Given the description of an element on the screen output the (x, y) to click on. 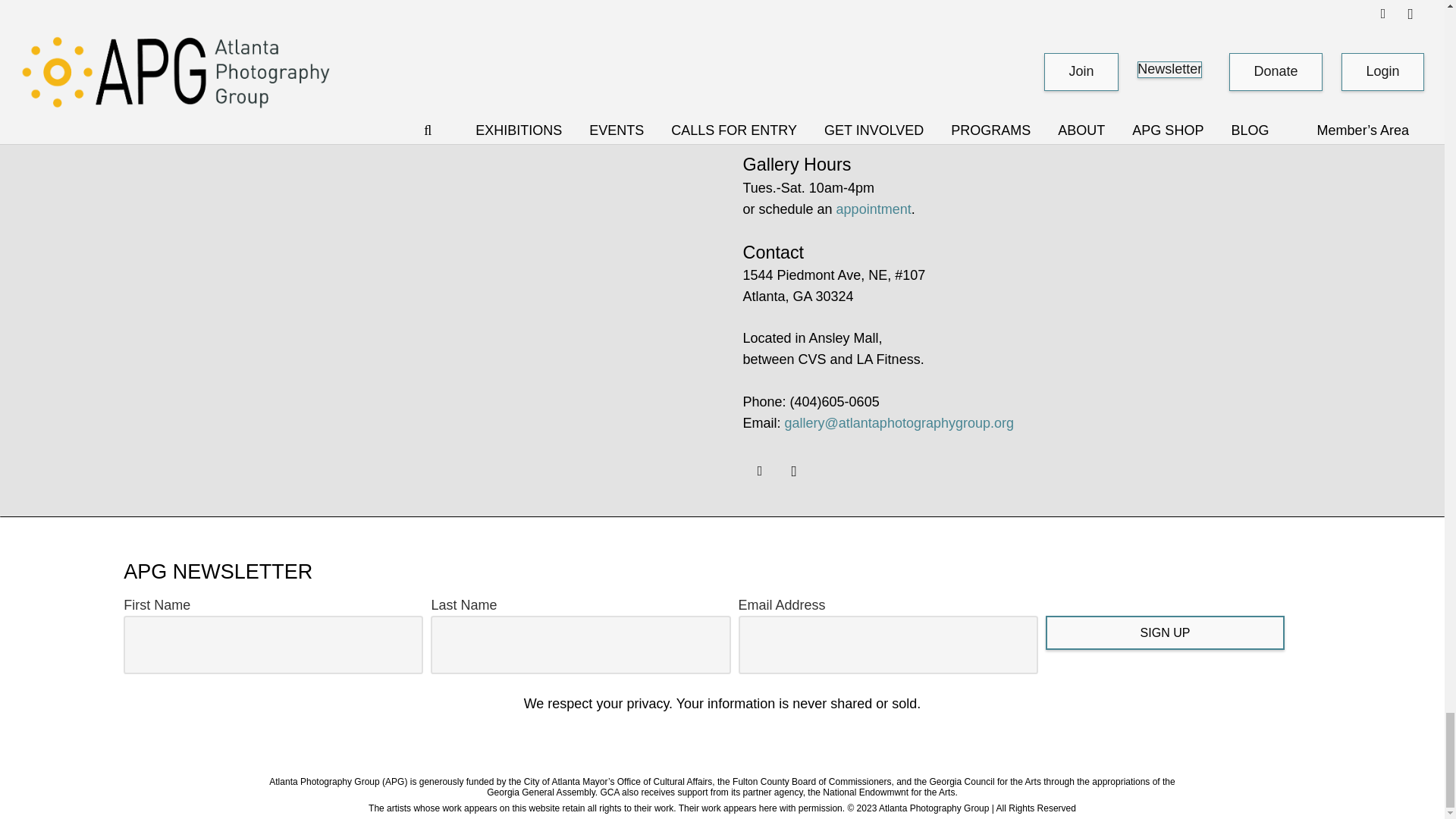
Facebook (759, 471)
Instagram (793, 471)
